Given the description of an element on the screen output the (x, y) to click on. 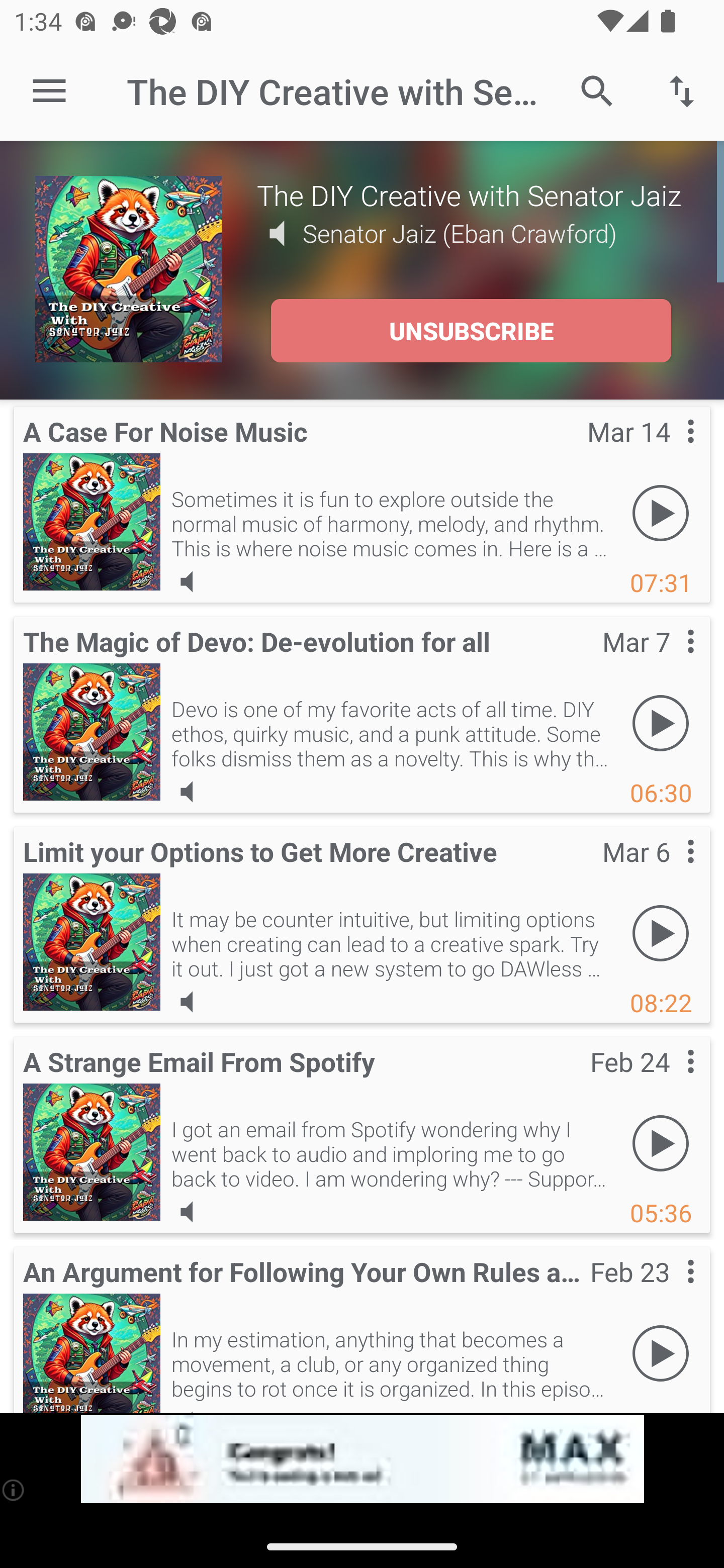
Open navigation sidebar (49, 91)
Search (597, 90)
Sort (681, 90)
UNSUBSCRIBE (470, 330)
Contextual menu (668, 451)
Play (660, 513)
Contextual menu (668, 661)
Play (660, 723)
Contextual menu (668, 870)
Play (660, 933)
Contextual menu (668, 1080)
Play (660, 1143)
Contextual menu (668, 1290)
Play (660, 1353)
app-monetization (362, 1459)
(i) (14, 1489)
